Given the description of an element on the screen output the (x, y) to click on. 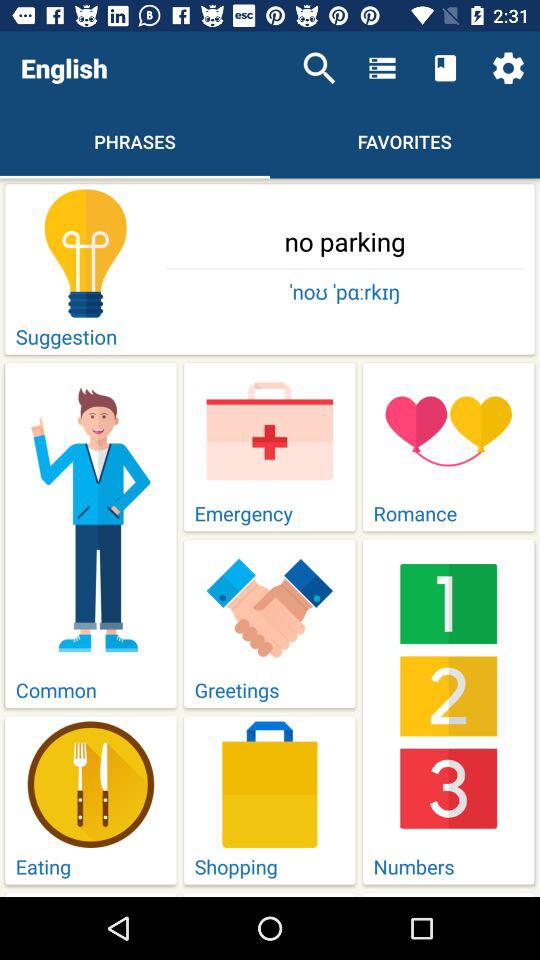
turn on item above no parking (319, 67)
